Given the description of an element on the screen output the (x, y) to click on. 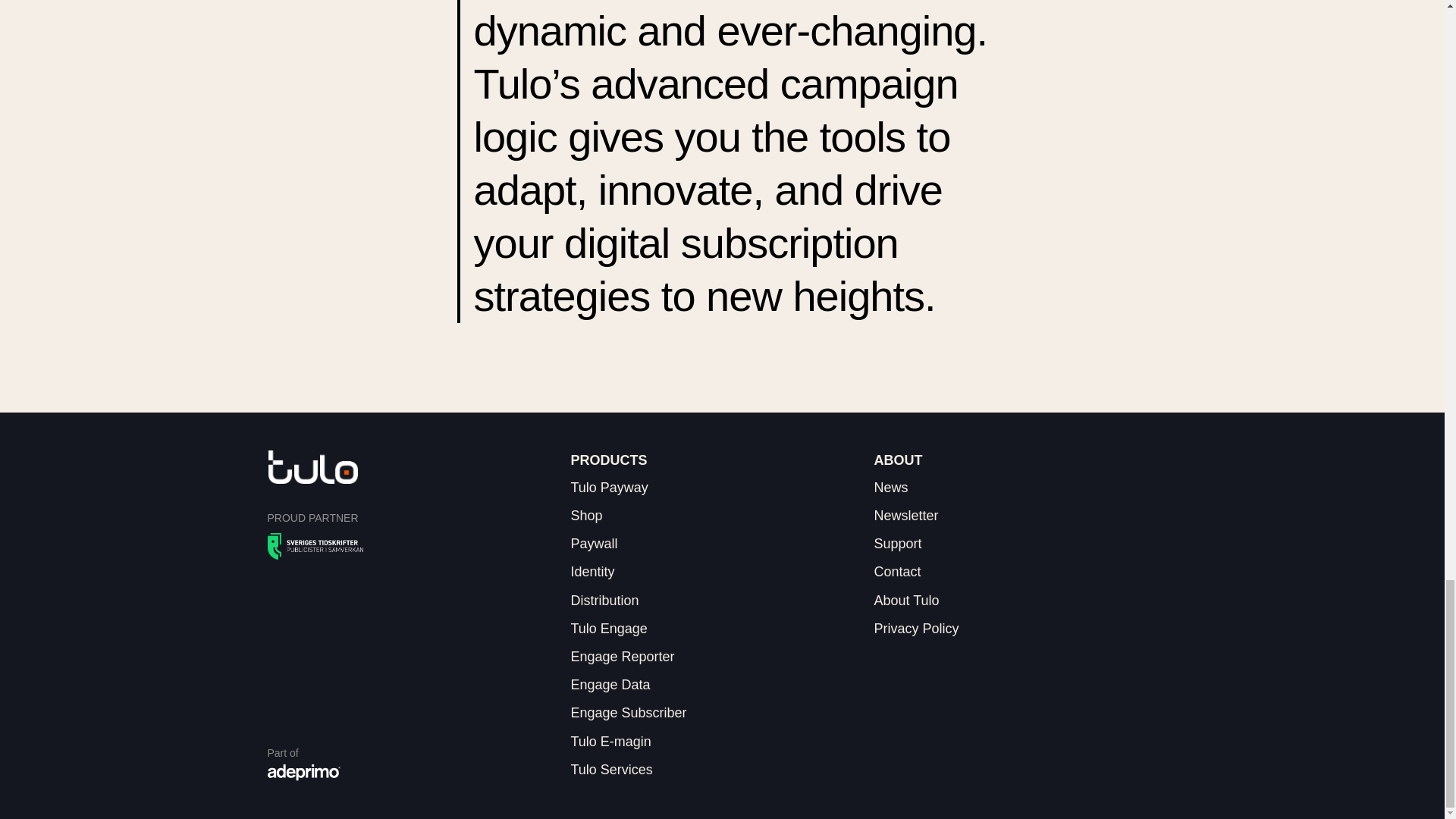
Paywall (593, 543)
Distribution (604, 600)
Identity (592, 571)
Engage Reporter (622, 656)
Tulo Engage (608, 628)
Tulo Payway (608, 487)
Shop (586, 515)
